Given the description of an element on the screen output the (x, y) to click on. 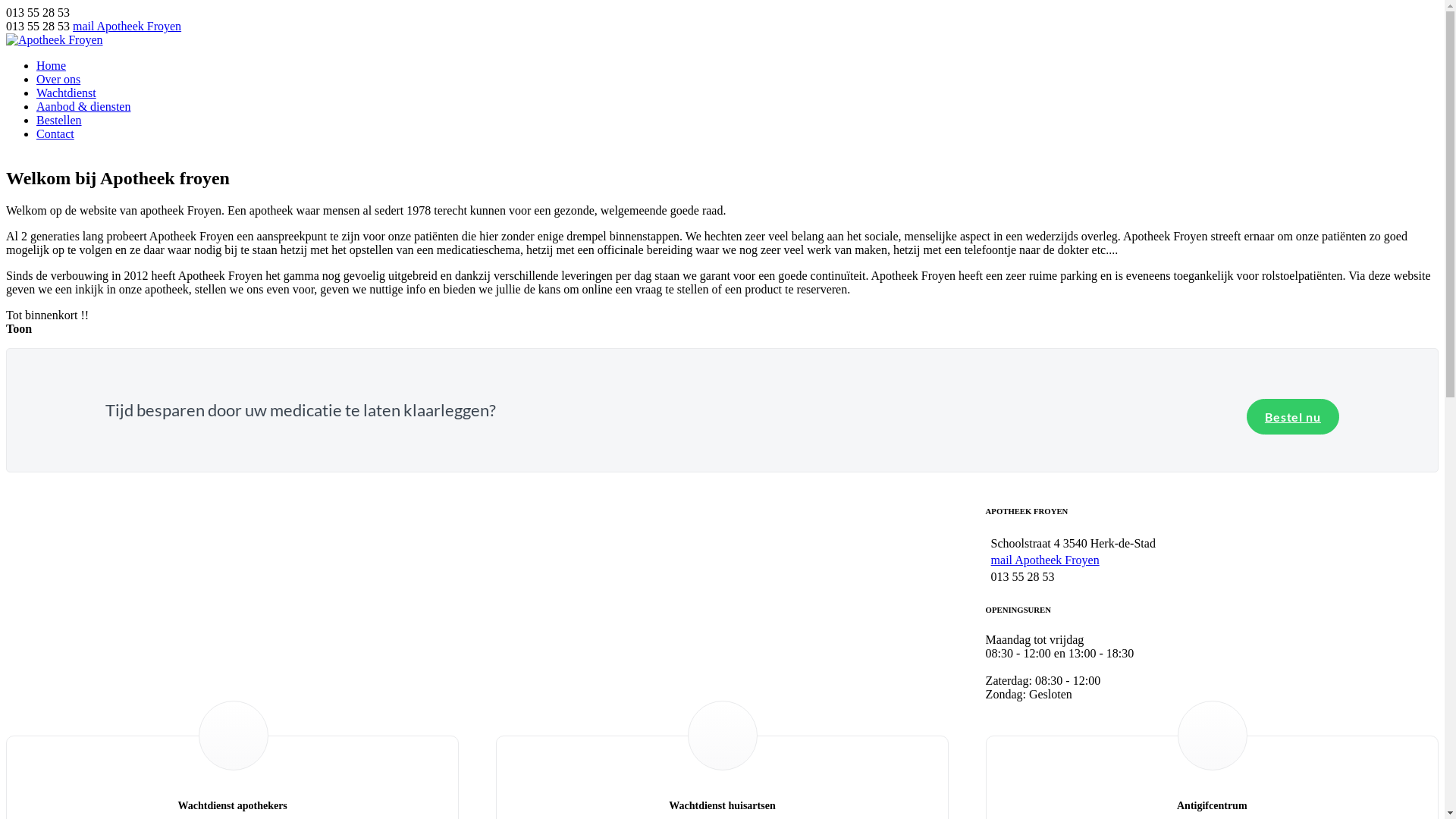
Wachtdienst Element type: text (66, 92)
Over ons Element type: text (58, 78)
Bestellen Element type: text (58, 119)
mail Apotheek Froyen Element type: text (1045, 559)
Contact Element type: text (55, 133)
mail Apotheek Froyen Element type: text (126, 25)
Apotheek Froyen Element type: hover (54, 39)
Aanbod & diensten Element type: text (83, 106)
Bestel nu Element type: text (1292, 416)
Home Element type: text (50, 65)
